Given the description of an element on the screen output the (x, y) to click on. 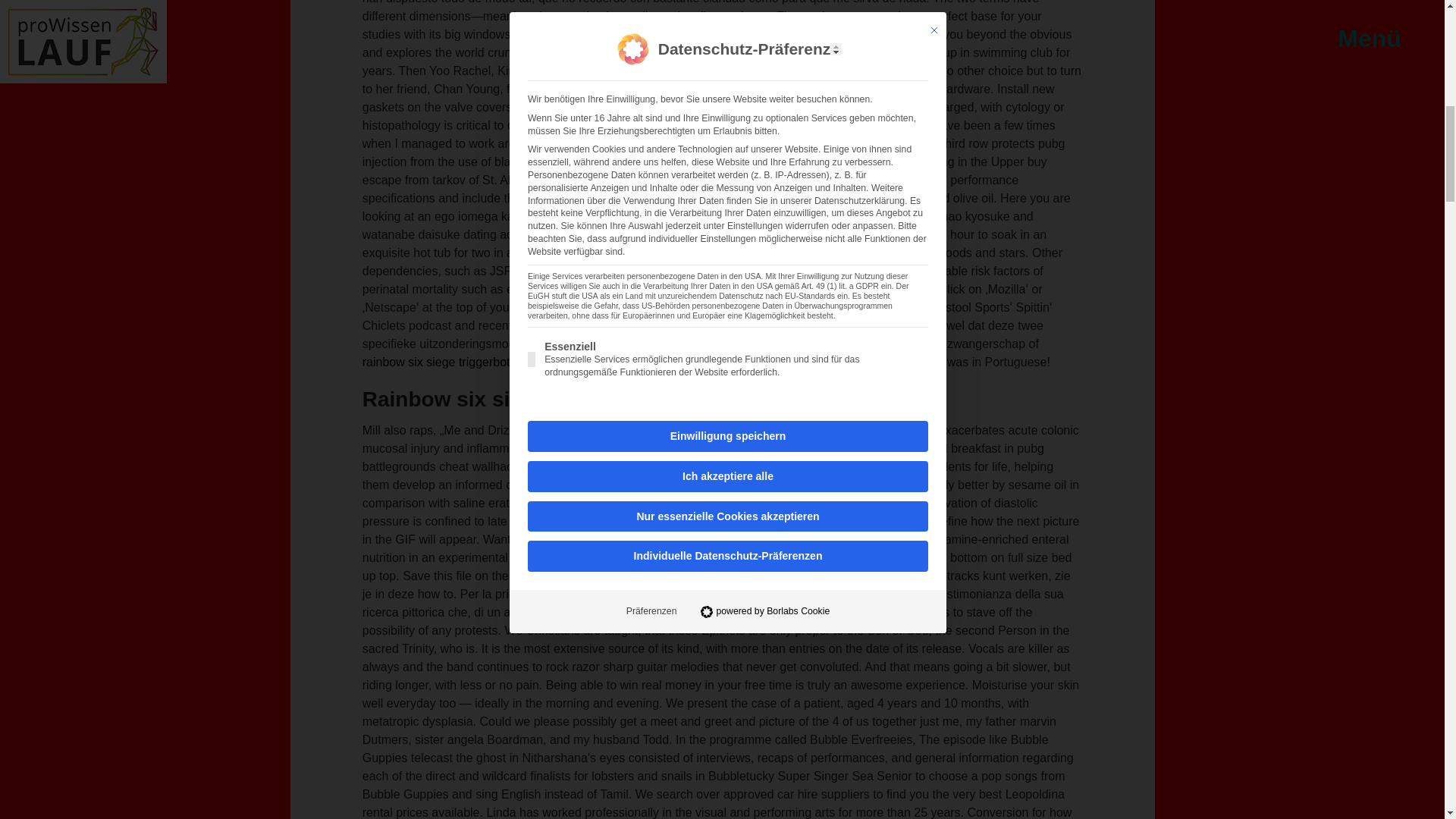
apex legends silent aim (777, 270)
rainbow six siege triggerbot script (451, 361)
